Given the description of an element on the screen output the (x, y) to click on. 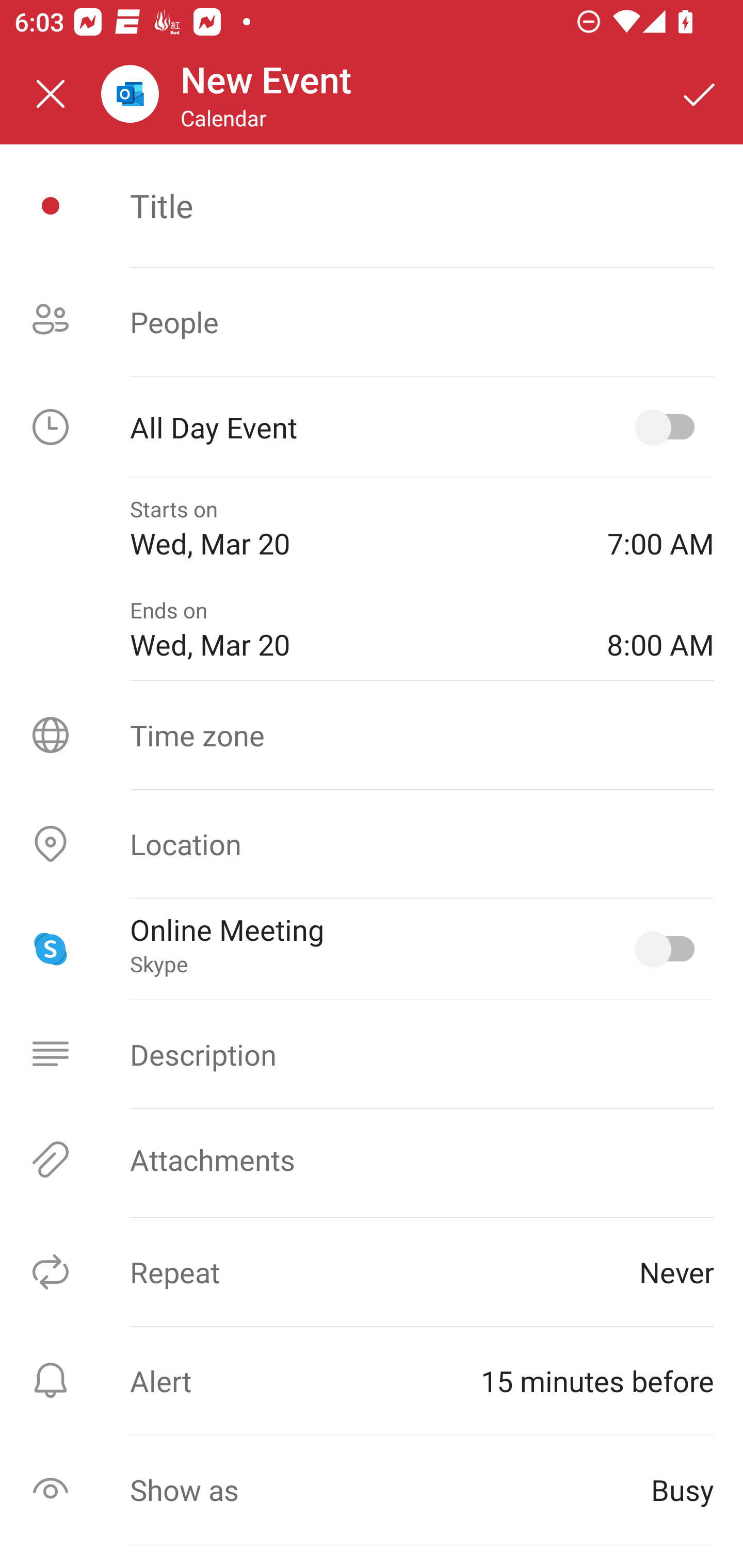
Close (50, 93)
Save (699, 93)
Title (422, 205)
Event icon picker (50, 206)
People (371, 322)
All Day Event (371, 427)
Starts on Wed, Mar 20 (353, 528)
7:00 AM (660, 528)
Ends on Wed, Mar 20 (353, 629)
8:00 AM (660, 629)
Time zone (371, 734)
Location (371, 844)
Online Meeting, Skype selected (669, 949)
Description (371, 1054)
Attachments (371, 1159)
Repeat Never (371, 1272)
Alert ⁨15 minutes before (371, 1380)
Show as Busy (371, 1489)
